Given the description of an element on the screen output the (x, y) to click on. 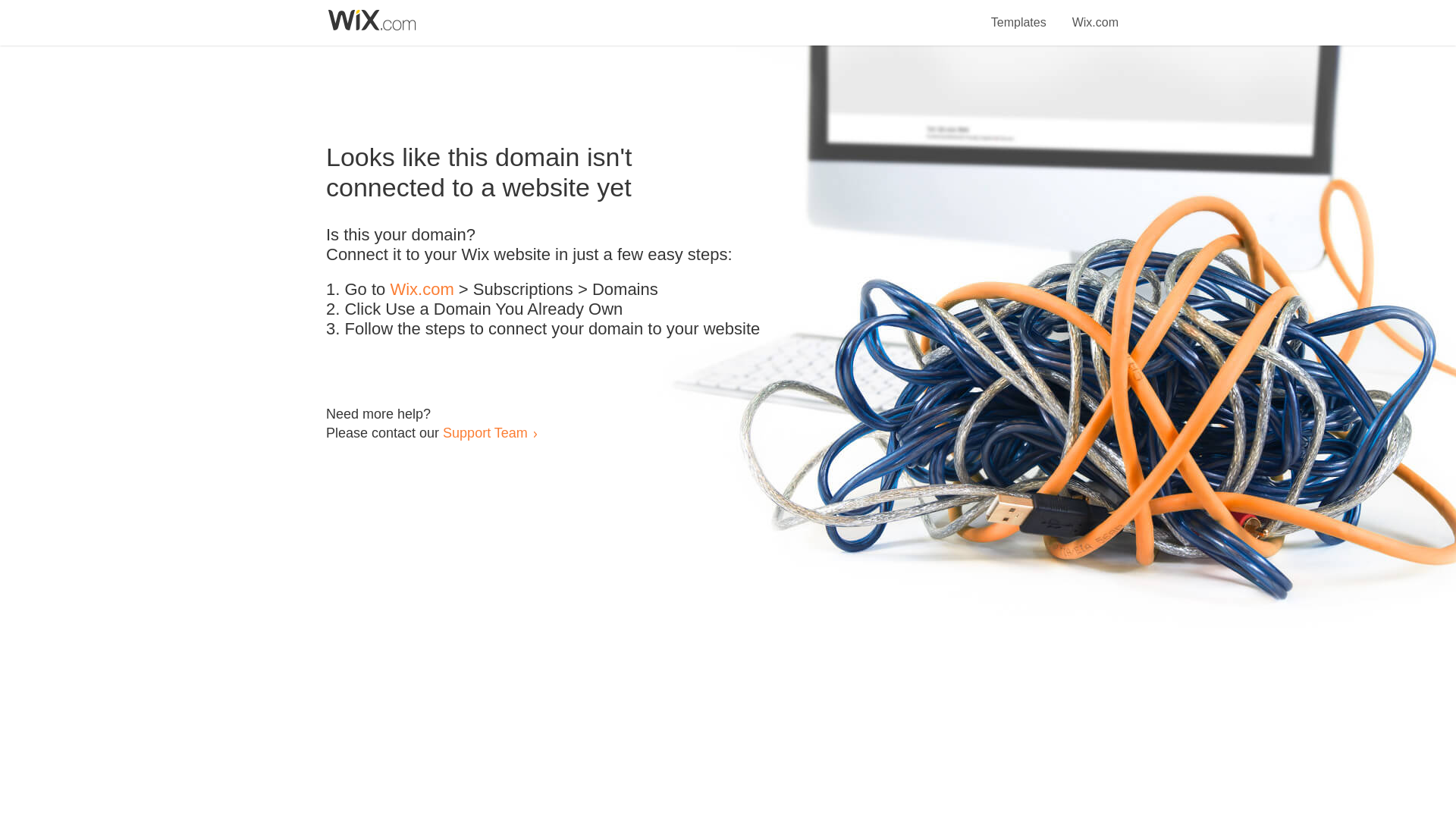
Wix.com (421, 289)
Templates (1018, 14)
Wix.com (1095, 14)
Support Team (484, 432)
